Given the description of an element on the screen output the (x, y) to click on. 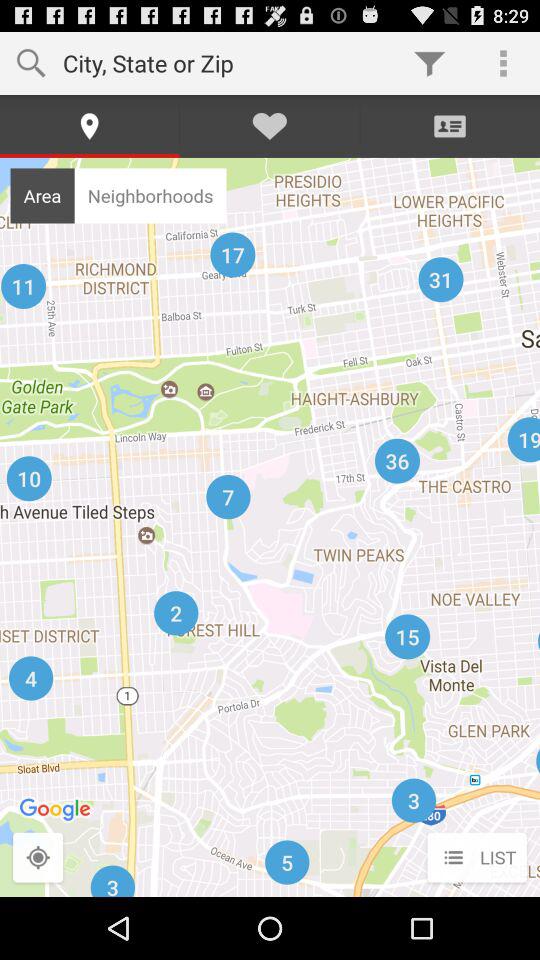
turn on button next to the list (37, 858)
